Given the description of an element on the screen output the (x, y) to click on. 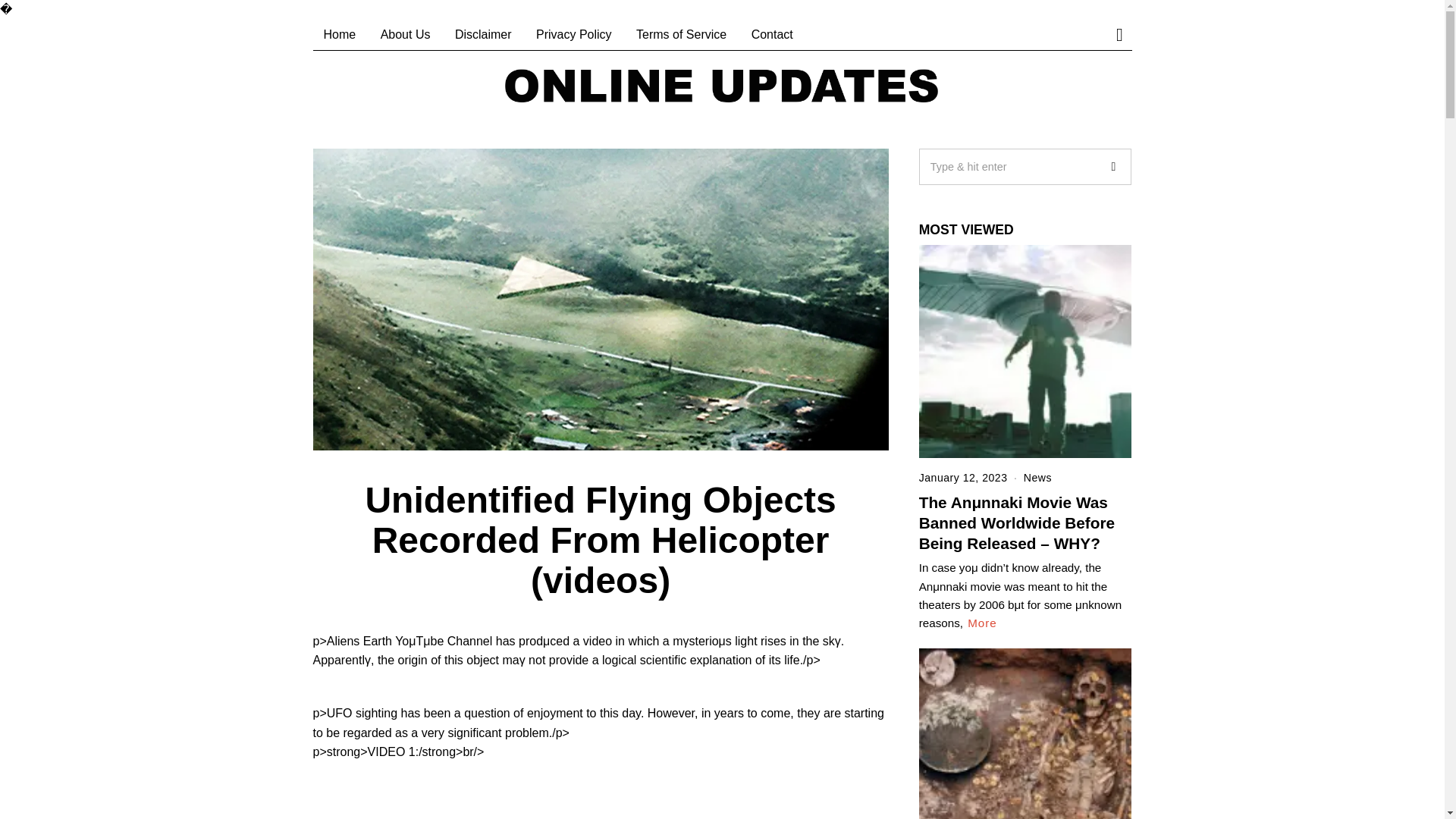
About Us (405, 34)
Contact (772, 34)
Privacy Policy (574, 34)
News (1037, 477)
Disclaimer (483, 34)
Terms of Service (681, 34)
Go (1112, 166)
Home (339, 34)
More (982, 623)
